Given the description of an element on the screen output the (x, y) to click on. 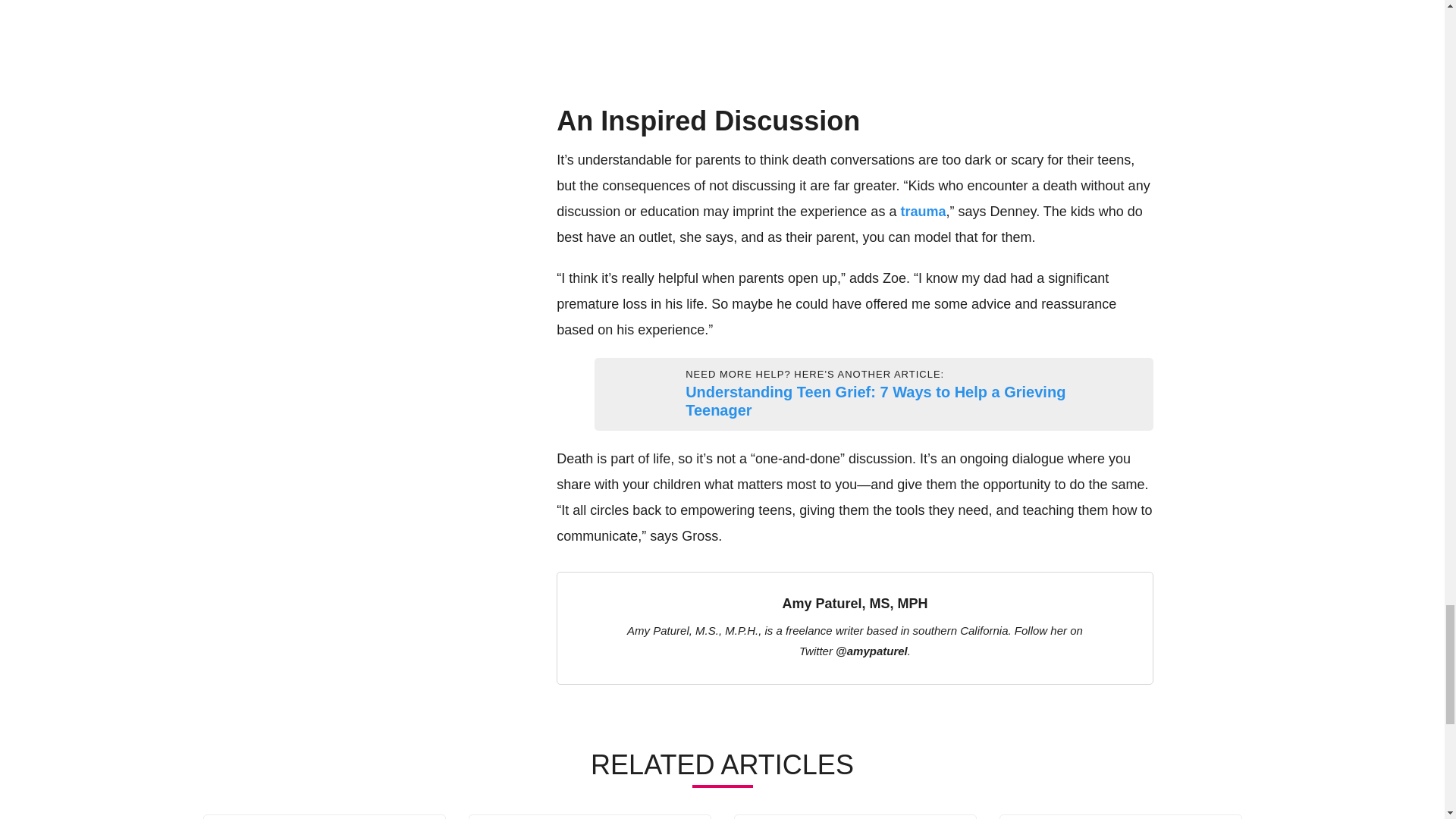
Stress in Teens: One Simple Intervention Can Reduce Stress (323, 816)
Dear Moms of High School Seniors: How Are You Doing? (589, 816)
call-parent-sad-boy (612, 394)
